Given the description of an element on the screen output the (x, y) to click on. 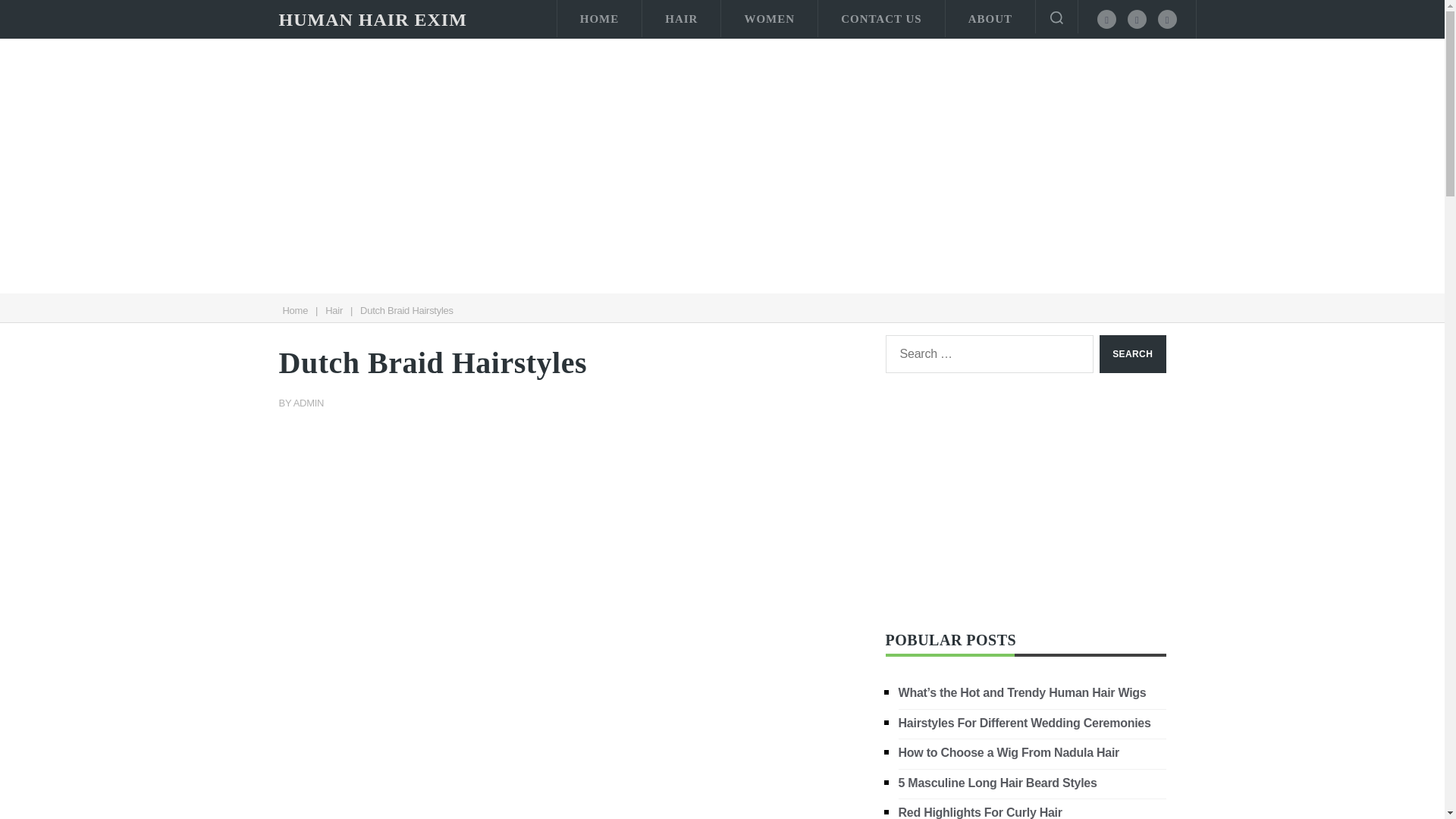
Hair (333, 310)
Advertisement (571, 755)
Hairstyles For Different Wedding Ceremonies (1024, 722)
Posts by Mark Hughman (309, 402)
Google Plus G (1166, 18)
ADMIN (309, 402)
CONTACT US (881, 18)
Advertisement (1025, 501)
Search (1132, 353)
Home (294, 310)
Search (1132, 353)
HOME (599, 18)
HAIR (681, 18)
HUMAN HAIR EXIM (373, 19)
